Given the description of an element on the screen output the (x, y) to click on. 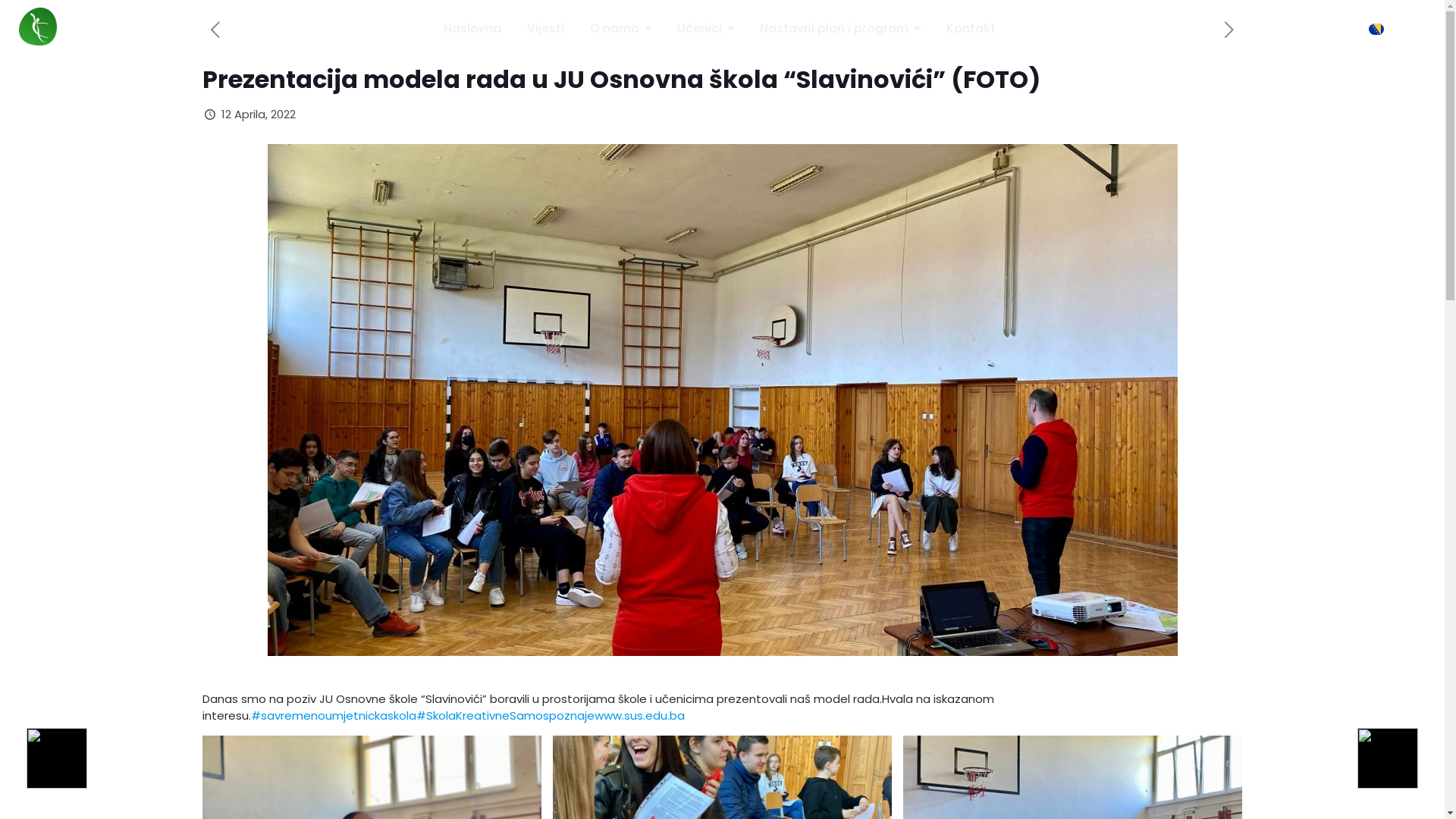
Naslovna Element type: text (472, 28)
O nama Element type: text (620, 28)
Vijesti Element type: text (545, 28)
BS Element type: text (1394, 28)
Kontakt Element type: text (970, 28)
www.sus.edu.ba Element type: text (639, 715)
Nastavni plan i program Element type: text (839, 28)
#savremenoumjetnickaskola Element type: text (332, 715)
#SkolaKreativneSamospoznaje Element type: text (504, 715)
